Given the description of an element on the screen output the (x, y) to click on. 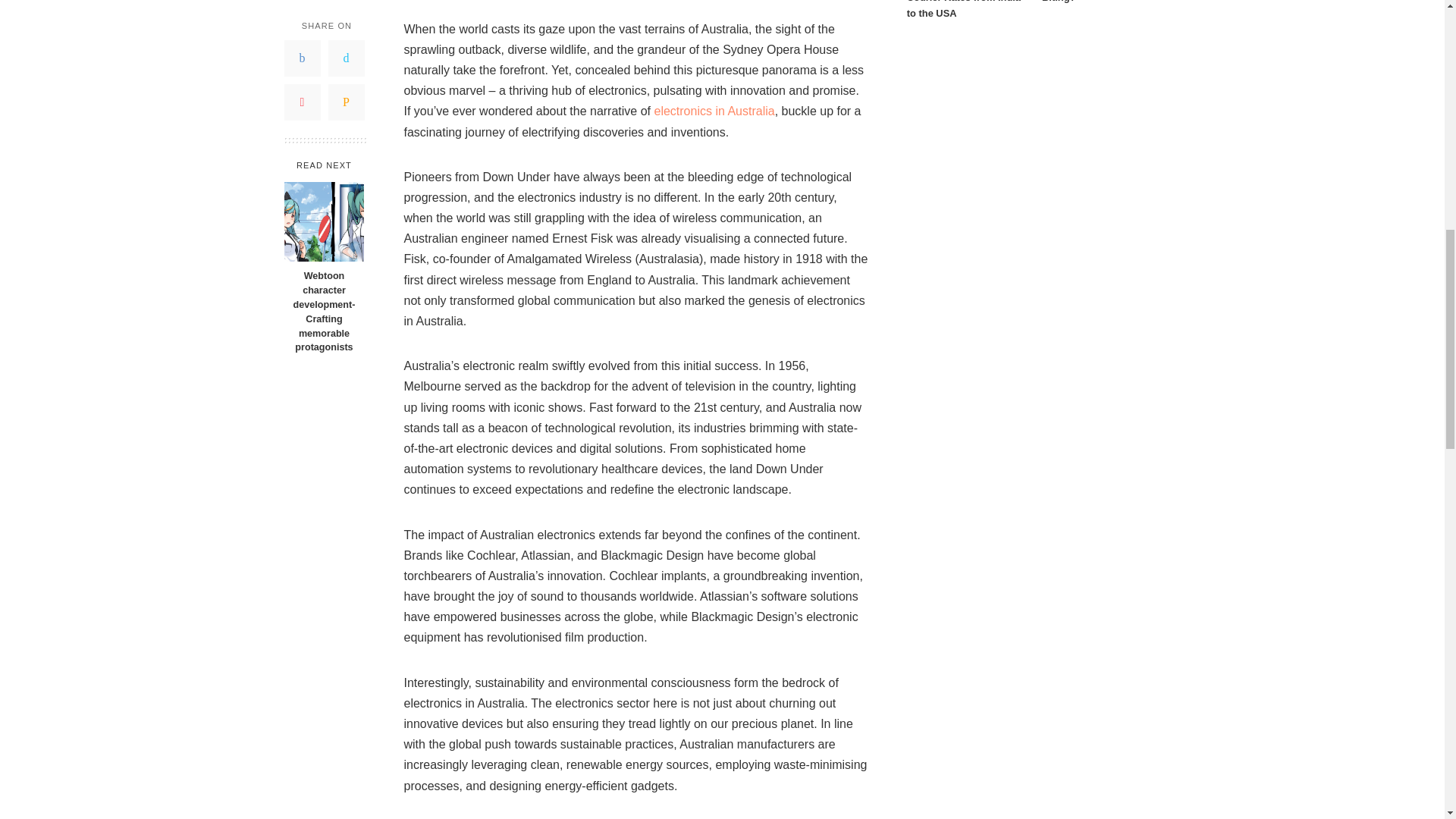
Pinterest (301, 102)
Email (345, 102)
electronics in Australia (713, 110)
Twitter (345, 58)
Facebook (301, 58)
